Given the description of an element on the screen output the (x, y) to click on. 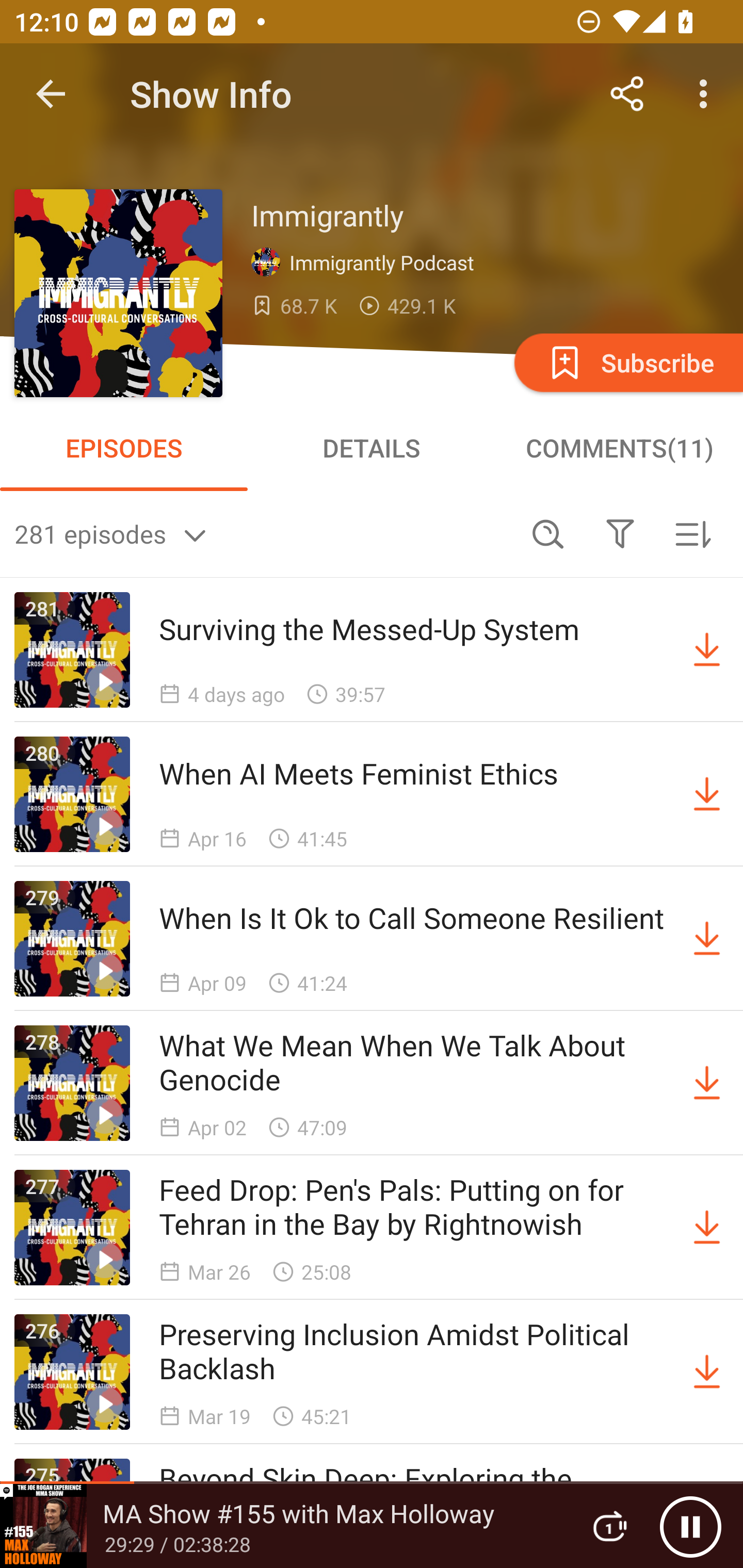
Navigate up (50, 93)
Share (626, 93)
More options (706, 93)
Immigrantly Podcast (367, 262)
Subscribe (627, 361)
EPISODES (123, 447)
DETAILS (371, 447)
COMMENTS(11) (619, 447)
281 episodes  (262, 533)
 Search (547, 533)
 (619, 533)
 Sorted by newest first (692, 533)
Download (706, 649)
Download (706, 793)
Download (706, 939)
Download (706, 1083)
Download (706, 1227)
Download (706, 1371)
Pause (690, 1526)
